Given the description of an element on the screen output the (x, y) to click on. 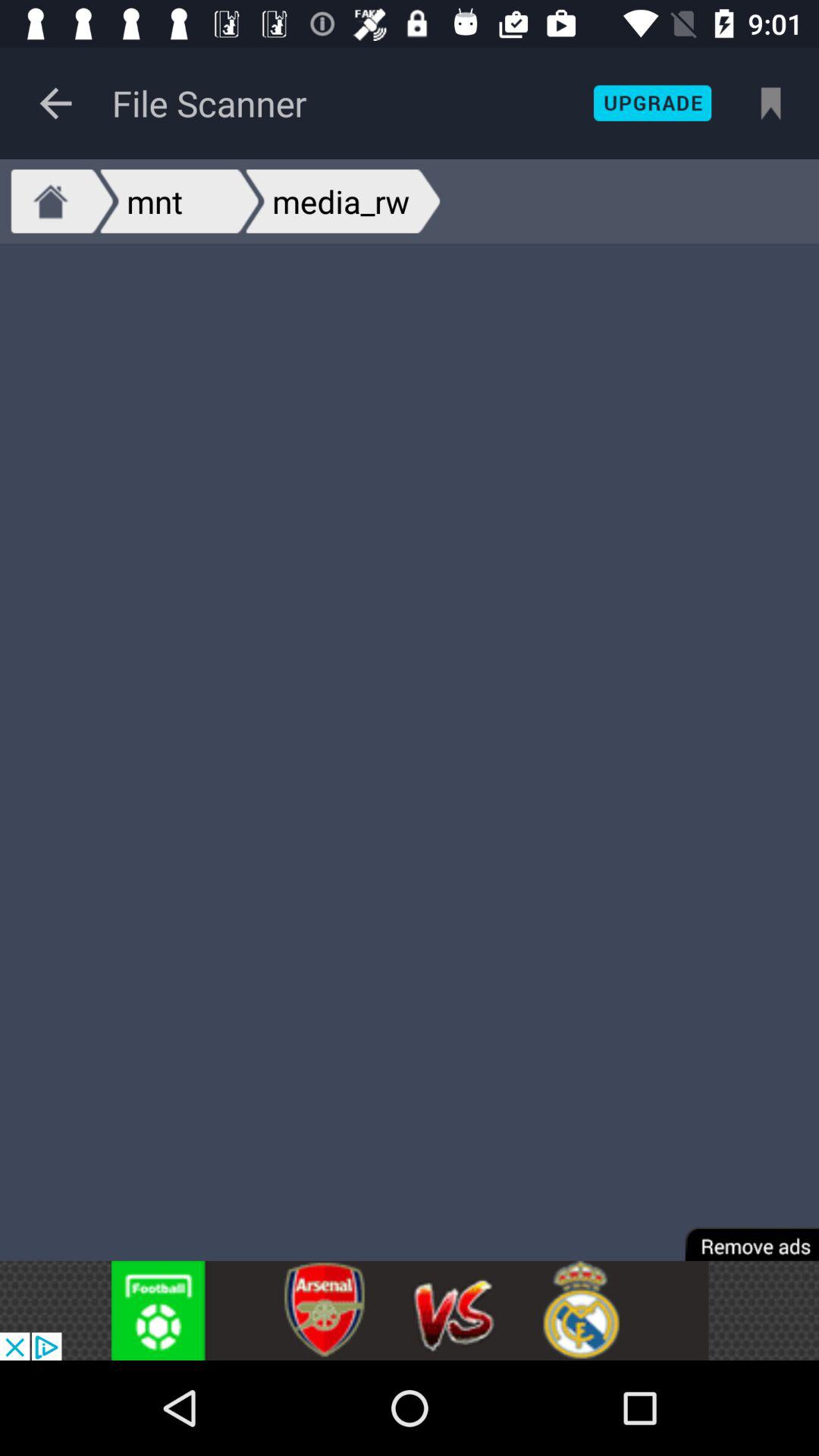
upgrade application (652, 103)
